Given the description of an element on the screen output the (x, y) to click on. 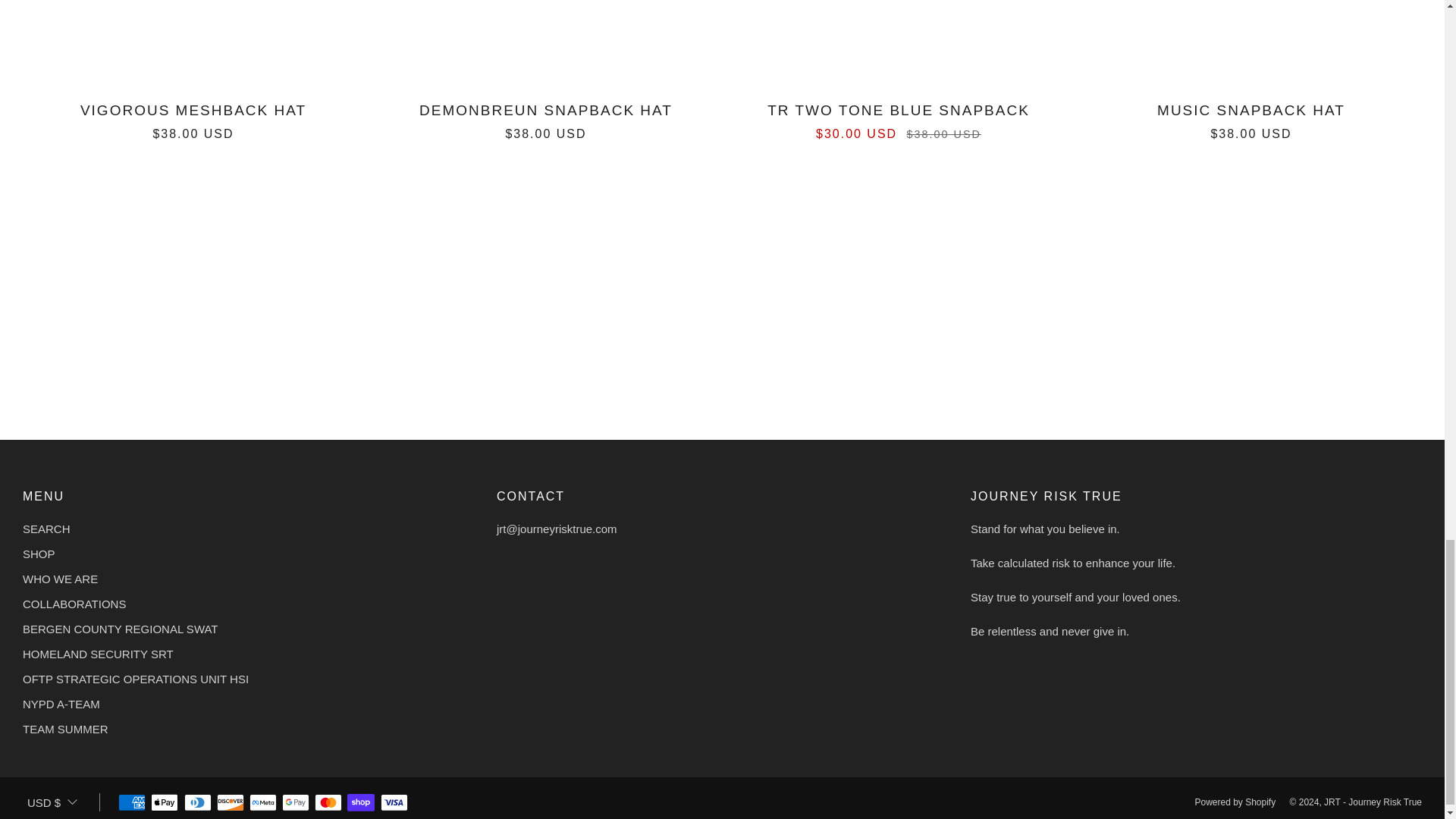
TR Two Tone Blue Snapback (898, 118)
Music Snapback Hat (1251, 118)
Vigorous Meshback Hat (193, 118)
Demonbreun Snapback Hat (545, 118)
